Given the description of an element on the screen output the (x, y) to click on. 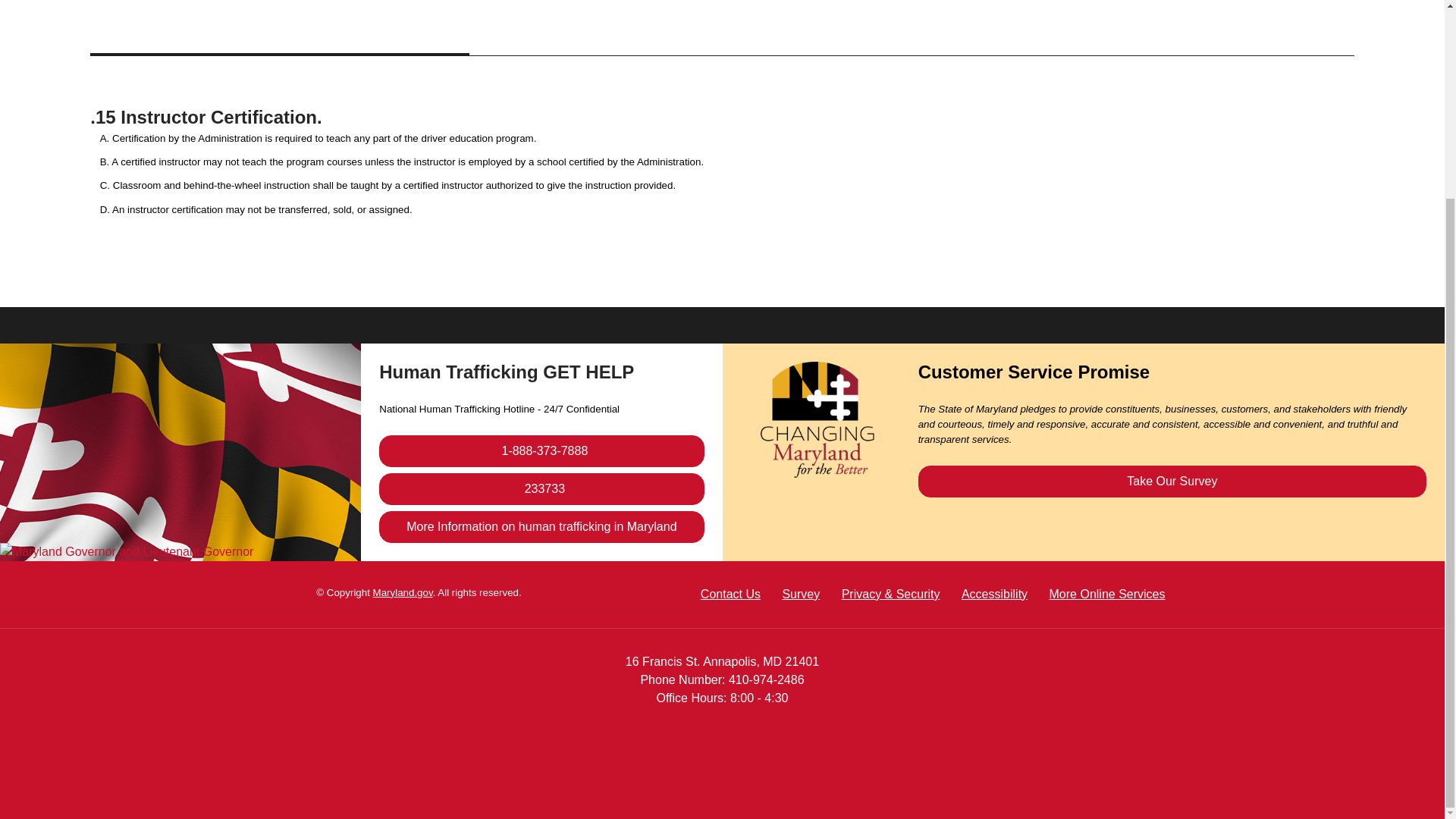
Contact Us (730, 594)
Maryland.gov (402, 592)
Accessibility (993, 594)
Survey (800, 594)
More Information on human trafficking in Maryland (540, 526)
Take Our Survey (1172, 481)
233733 (540, 489)
1-888-373-7888 (540, 450)
More Online Services (1107, 594)
